Given the description of an element on the screen output the (x, y) to click on. 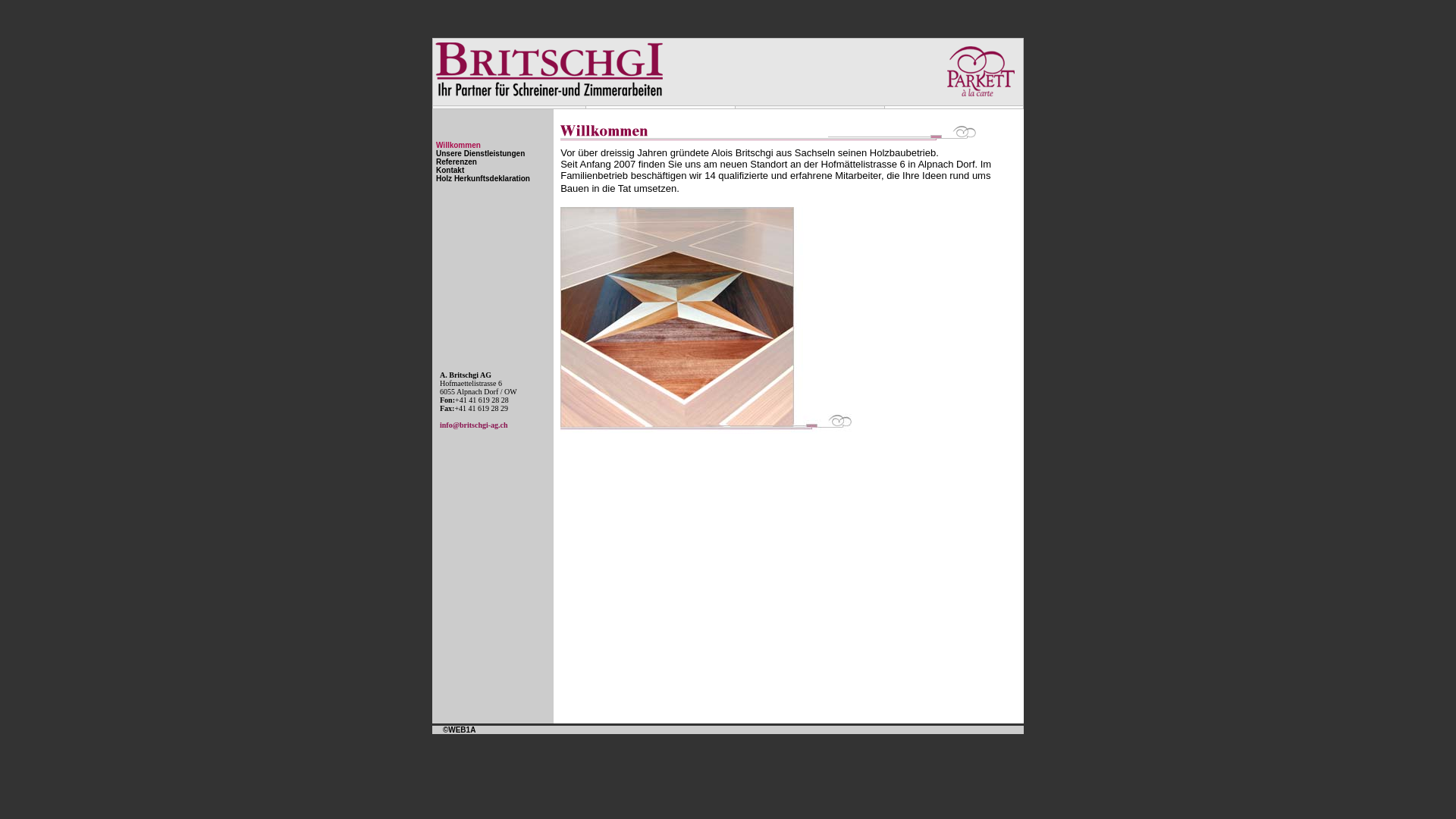
Holz Herkunftsdeklaration Element type: text (483, 178)
Unsere Dienstleistungen Element type: text (480, 153)
Referenzen Element type: text (456, 161)
Kontakt Element type: text (450, 170)
info@britschgi-ag.ch Element type: text (473, 424)
Willkommen Element type: text (458, 145)
